Given the description of an element on the screen output the (x, y) to click on. 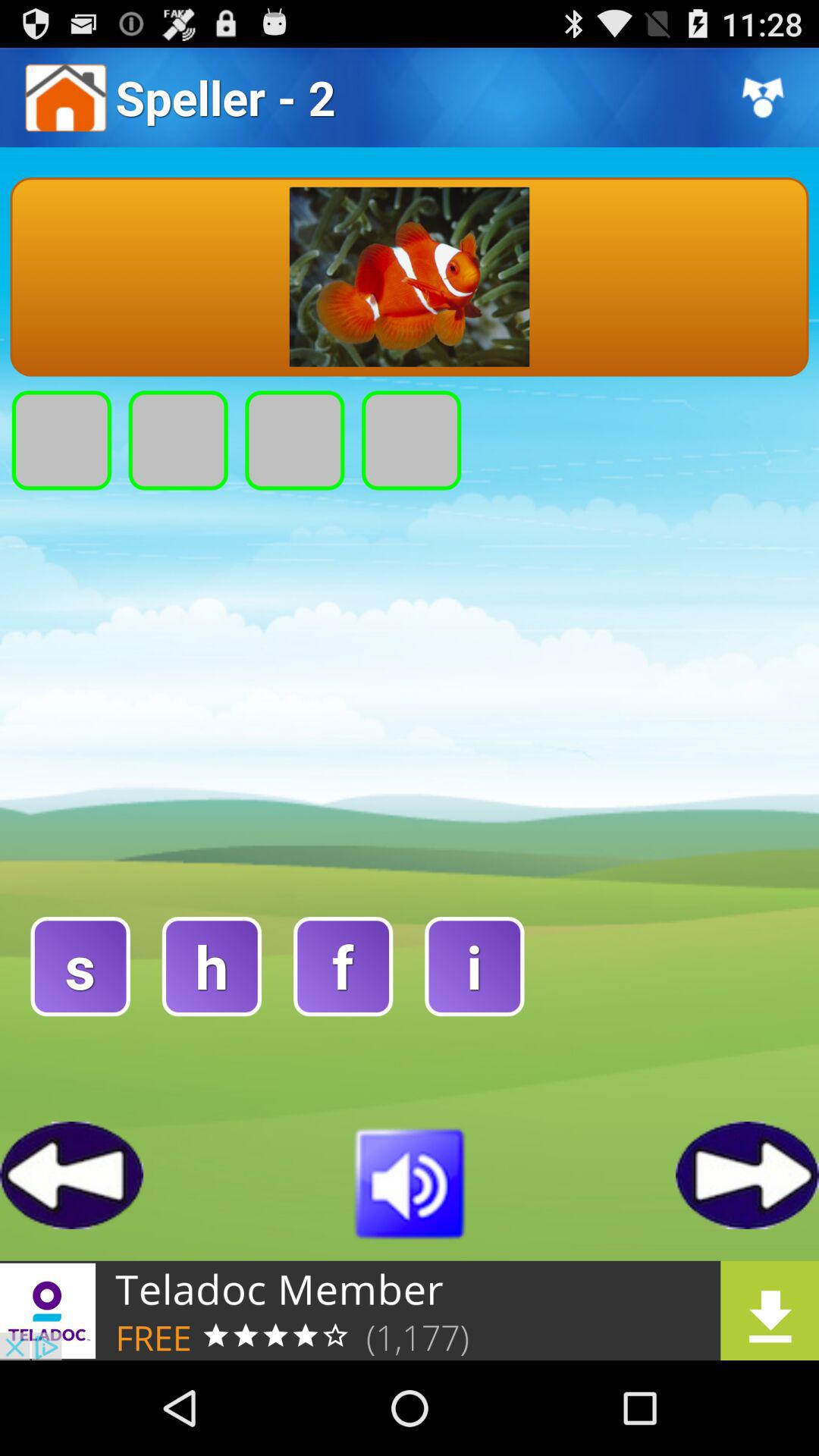
switch sound option (409, 1181)
